Given the description of an element on the screen output the (x, y) to click on. 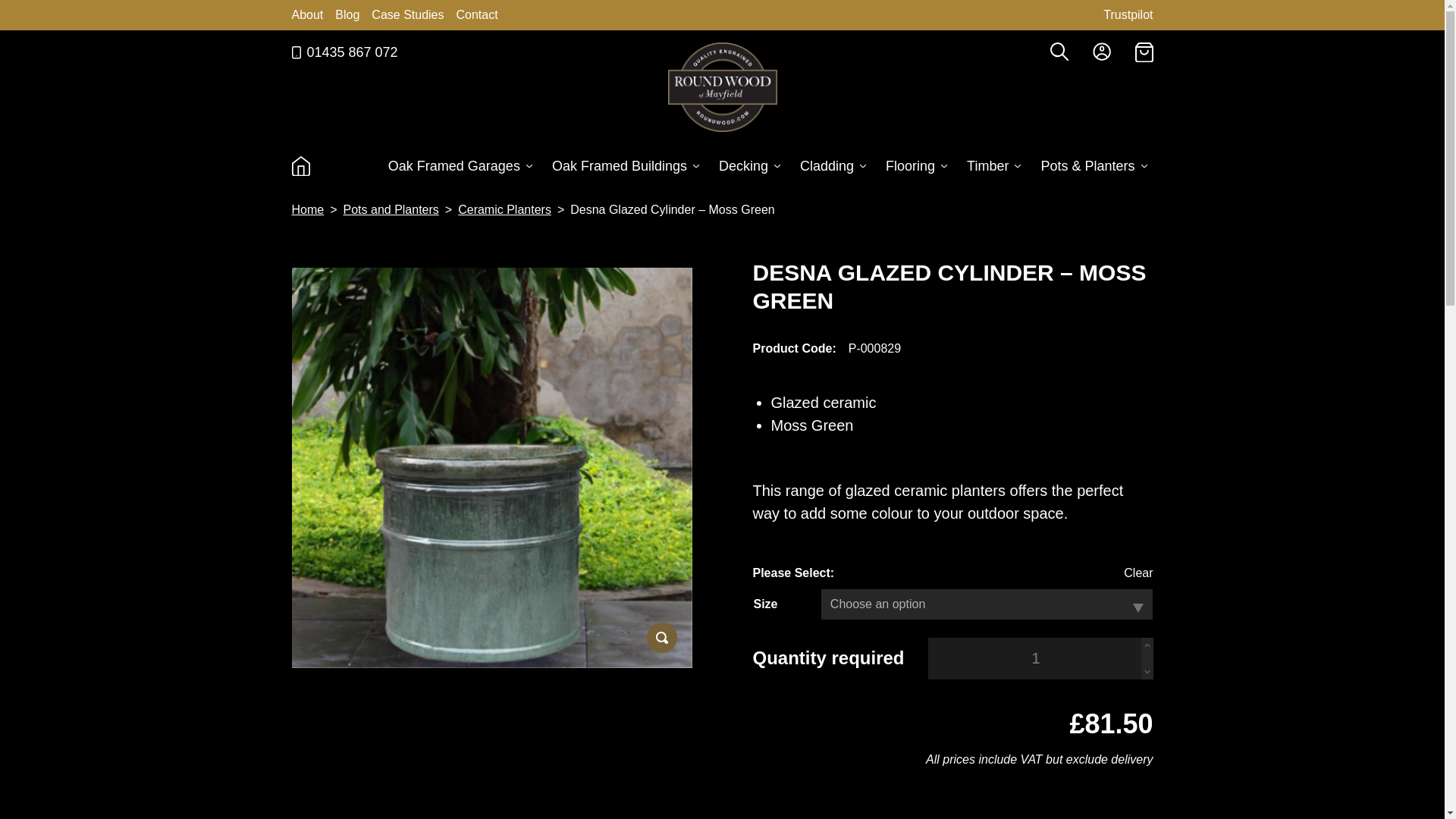
01435 867 072 (344, 52)
1 (1036, 658)
Oak Framed Garages (460, 169)
Trustpilot (1128, 14)
About (307, 14)
Qty (1036, 658)
Contact (477, 14)
Blog (346, 14)
Case Studies (407, 14)
Oak Framed Buildings (624, 169)
